Given the description of an element on the screen output the (x, y) to click on. 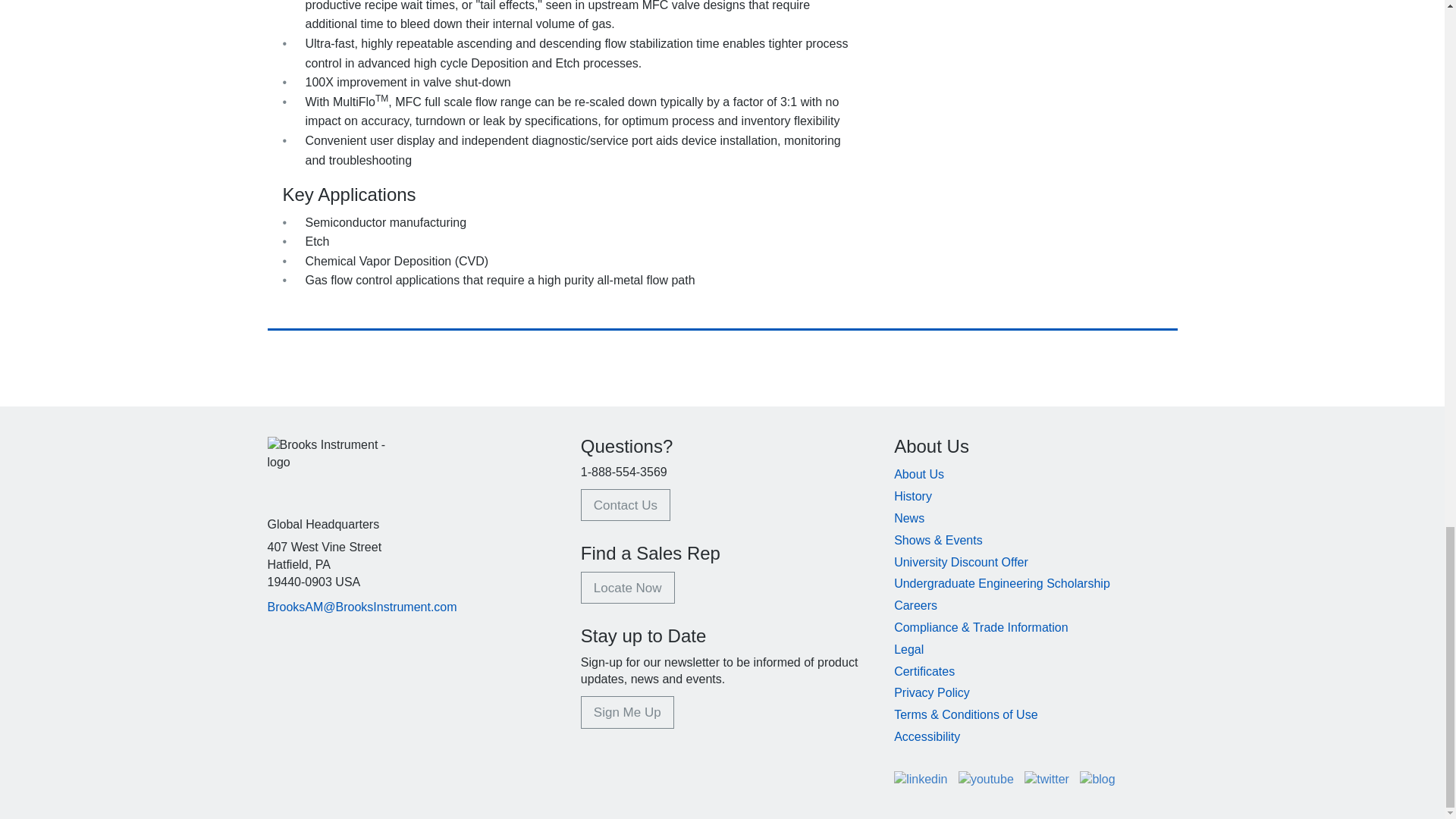
Locate Now (627, 587)
YouTube (987, 779)
Blog (1097, 779)
Sign Me Up (627, 712)
Linkedin (921, 779)
Contact Us (624, 504)
Twitter (1048, 779)
